Given the description of an element on the screen output the (x, y) to click on. 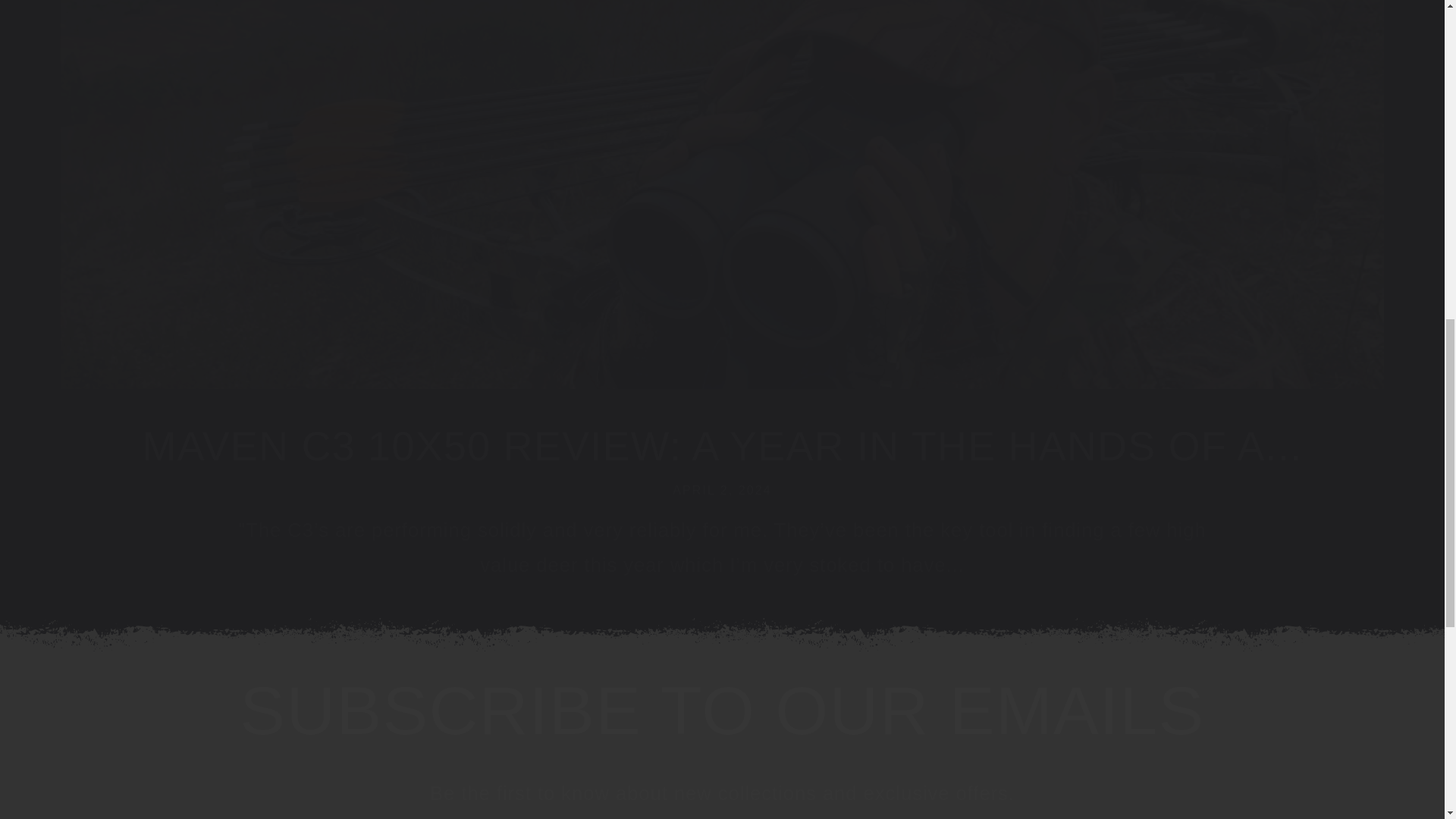
SUBSCRIBE TO OUR EMAILS (722, 710)
